Given the description of an element on the screen output the (x, y) to click on. 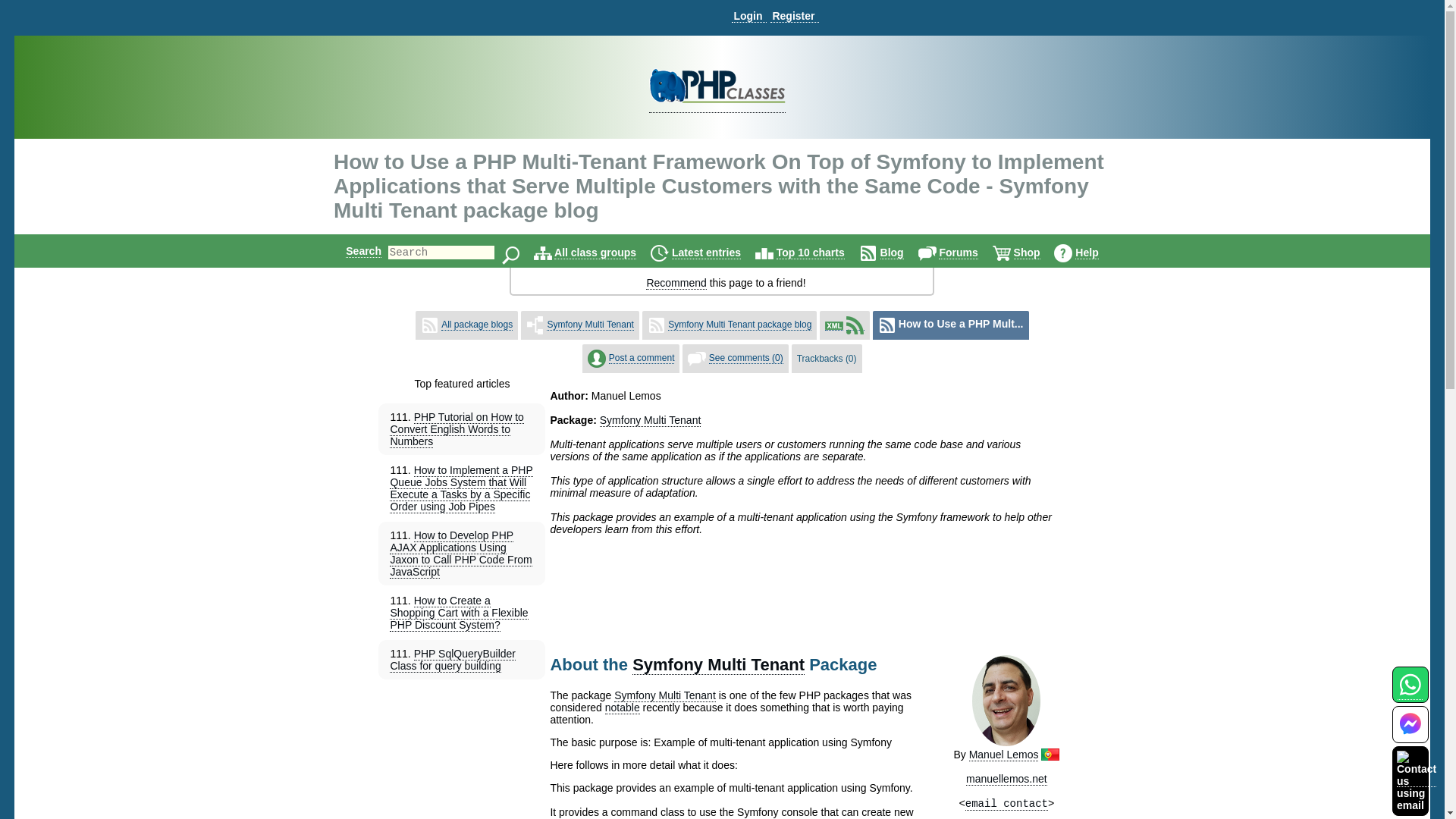
Symfony Multi Tenant (718, 664)
Shop (1027, 252)
Search (363, 250)
Manuel Lemos (1004, 754)
manuellemos.net (1006, 779)
PHP SqlQueryBuilder Class for query building (452, 659)
Symfony Multi Tenant package blog (739, 324)
email contact (1006, 803)
Contact us using Messenger (1409, 733)
Blog (892, 252)
Login (748, 15)
Top 10 charts (810, 252)
Symfony Multi Tenant (650, 420)
Register (794, 15)
